Given the description of an element on the screen output the (x, y) to click on. 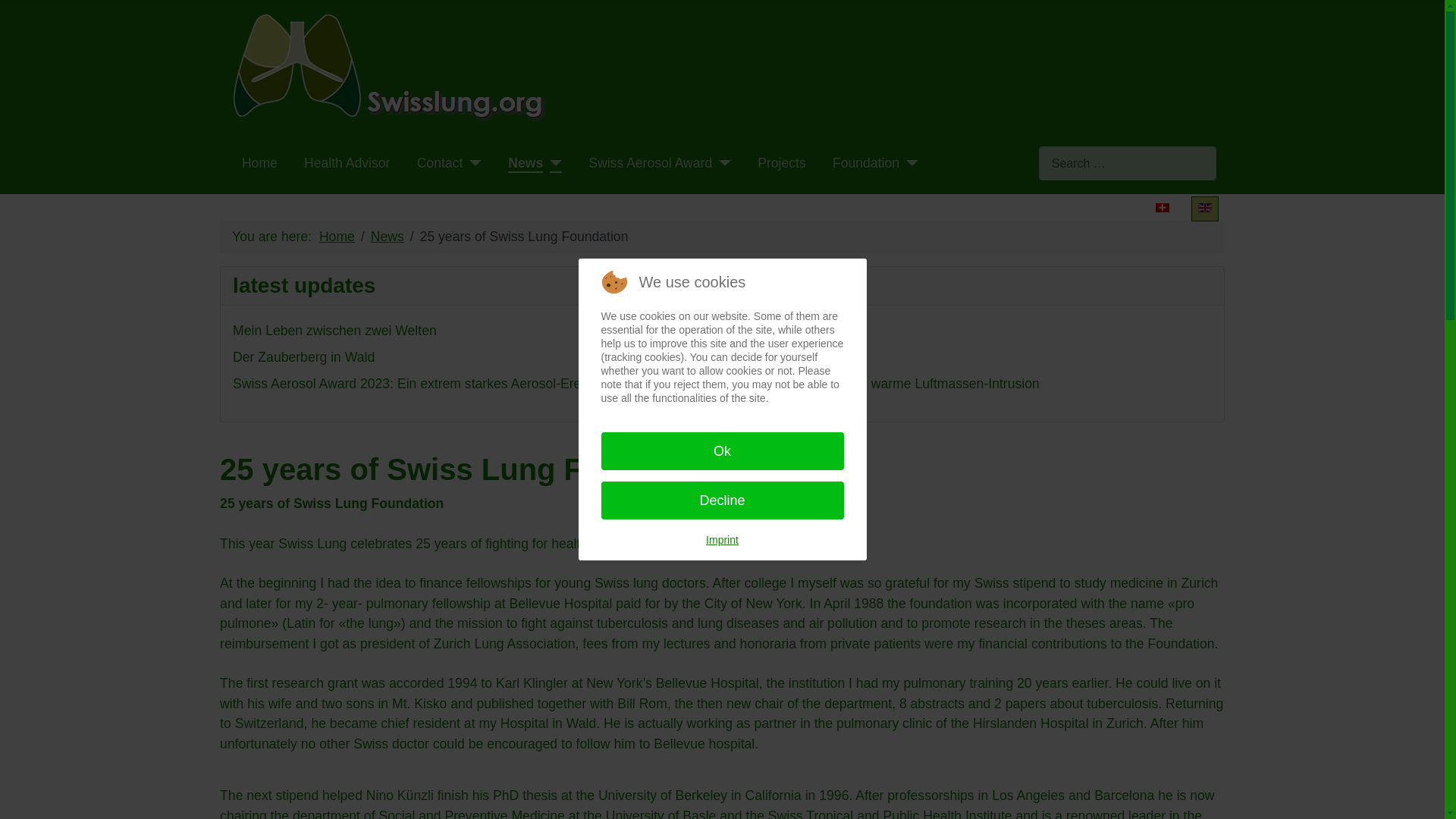
Der Zauberberg in Wald (303, 356)
Swiss Aerosol Award (649, 162)
News (387, 236)
Projects (781, 162)
Home (336, 236)
Mein Leben zwischen zwei Welten (334, 330)
Health Advisor (347, 162)
News (525, 162)
Home (259, 162)
Foundation (865, 162)
Contact (439, 162)
